Given the description of an element on the screen output the (x, y) to click on. 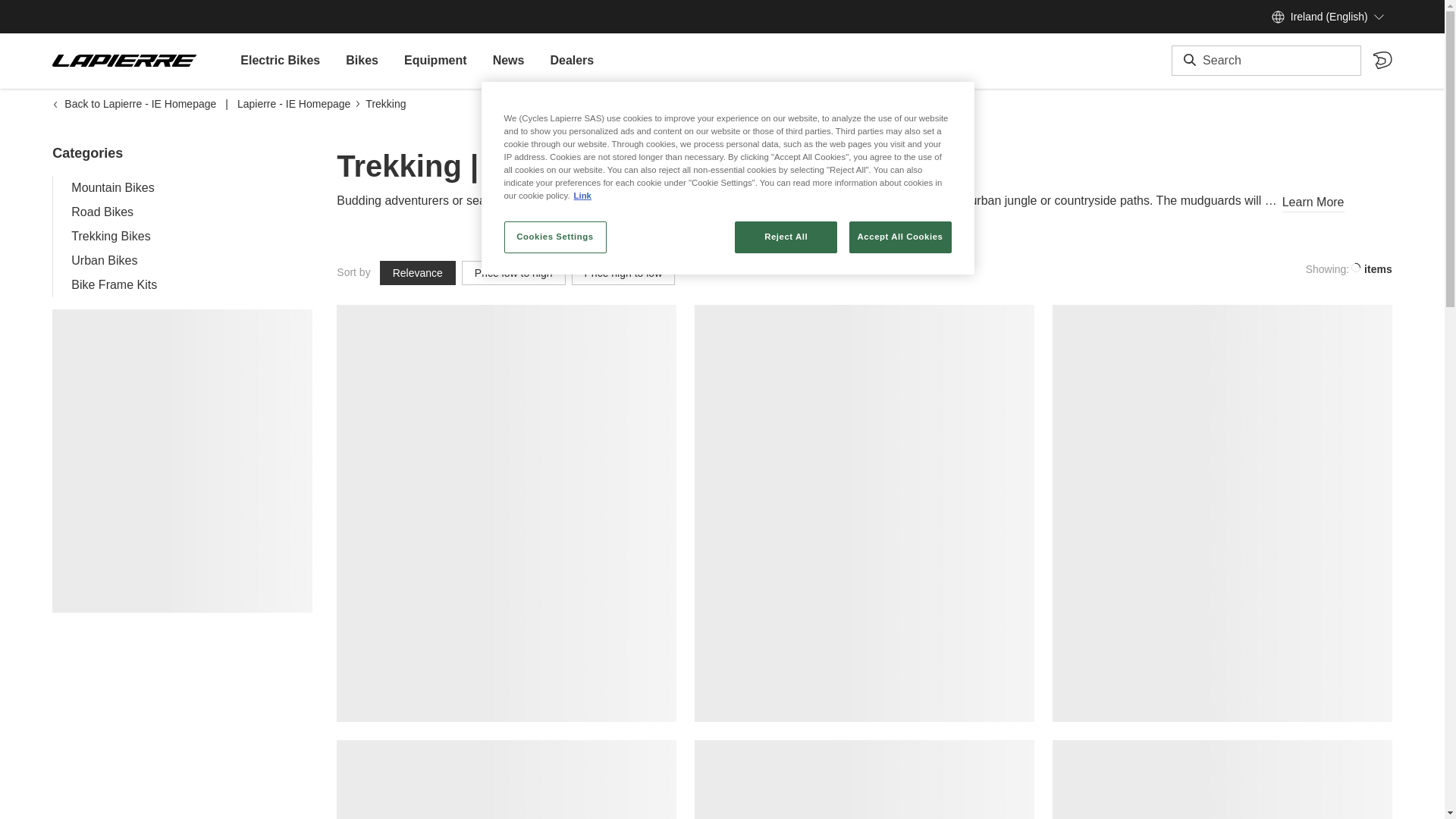
Electric Bikes (279, 60)
News (508, 60)
Bikes (361, 60)
Dealers (571, 60)
Equipment (435, 60)
